Given the description of an element on the screen output the (x, y) to click on. 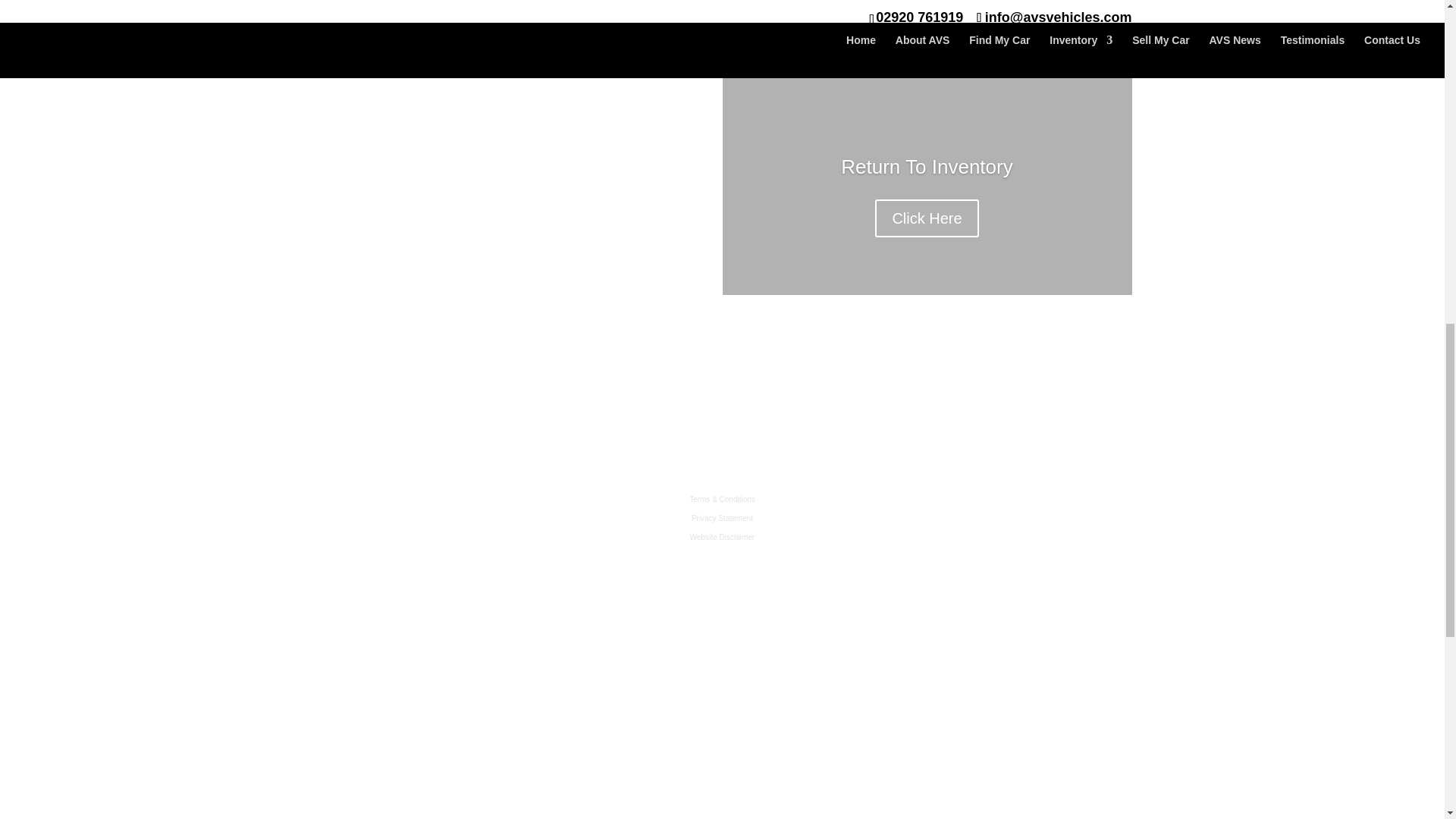
Follow on Pinterest (1048, 501)
Follow on LinkedIn (987, 501)
Complaints Procedure (722, 555)
Follow on Facebook (927, 501)
Website Disclaimer (722, 537)
Follow on Instagram (1018, 501)
Follow on Youtube (1078, 501)
Privacy Statement (721, 518)
Follow on X (956, 501)
